Given the description of an element on the screen output the (x, y) to click on. 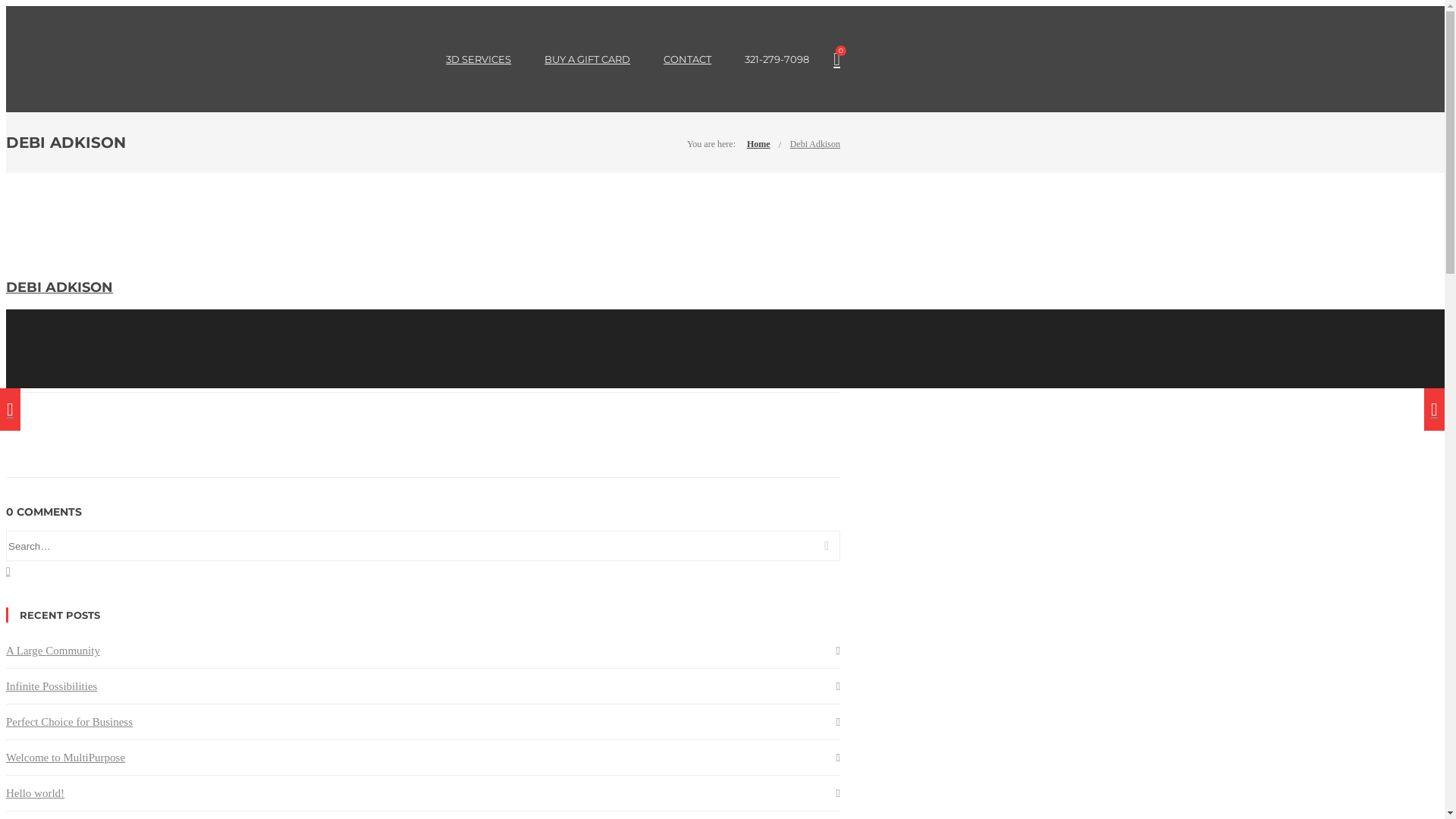
3D SERVICES Element type: text (478, 58)
Perfect Choice for Business Element type: text (69, 721)
Welcome to MultiPurpose Element type: text (65, 757)
0 Element type: text (836, 58)
0 likes Element type: text (253, 379)
DEBI ADKISON Element type: text (59, 287)
Hello world! Element type: text (35, 793)
Debi Adkison Element type: text (815, 143)
Home Element type: text (758, 143)
CONTACT Element type: text (687, 58)
321-279-7098 Element type: text (776, 58)
Infinite Possibilities Element type: text (51, 686)
A Large Community Element type: text (53, 650)
BUY A GIFT CARD Element type: text (587, 58)
